Given the description of an element on the screen output the (x, y) to click on. 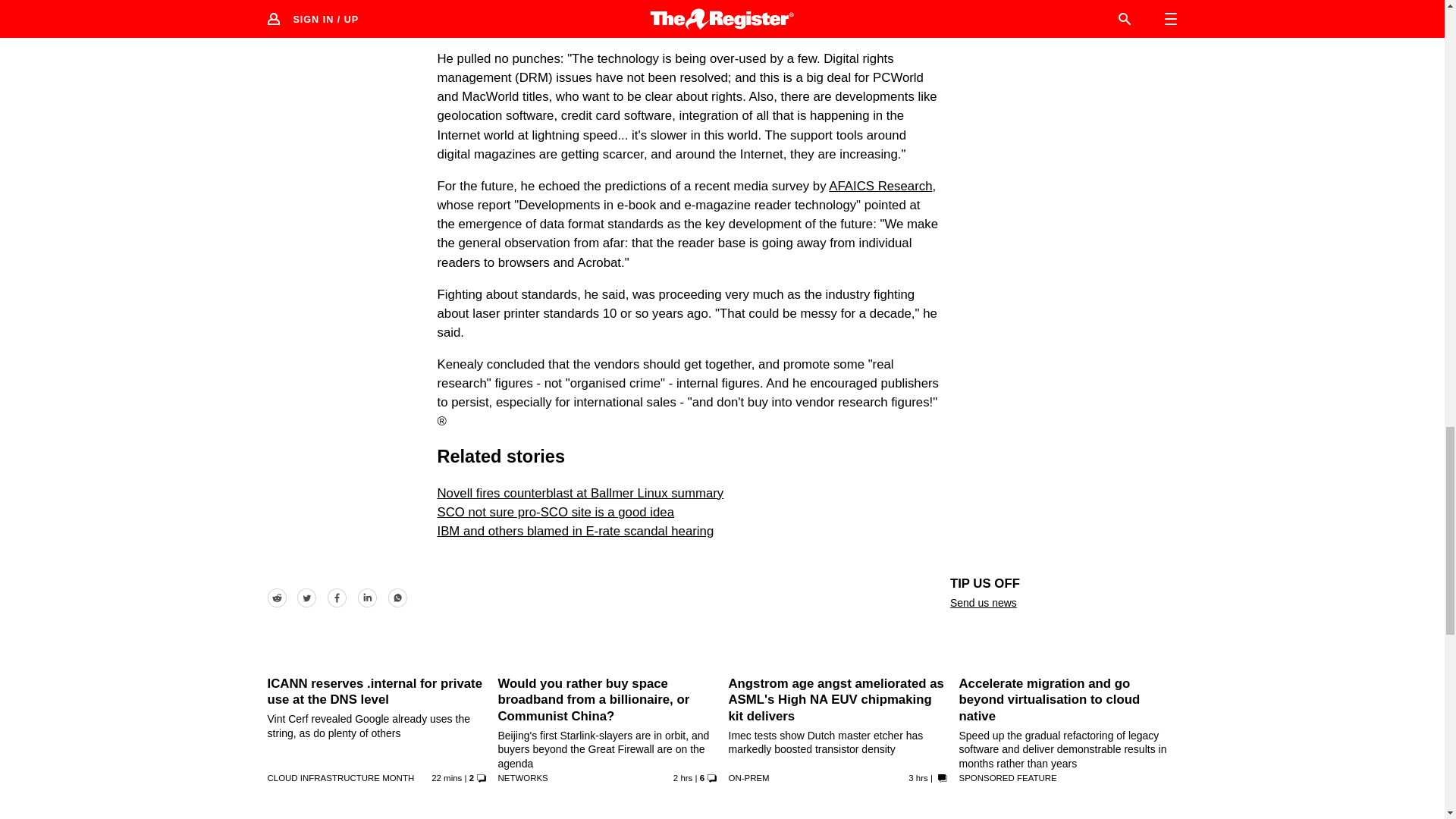
8 Aug 2024 3:15 (918, 777)
8 Aug 2024 3:58 (682, 777)
8 Aug 2024 5:42 (445, 777)
